Given the description of an element on the screen output the (x, y) to click on. 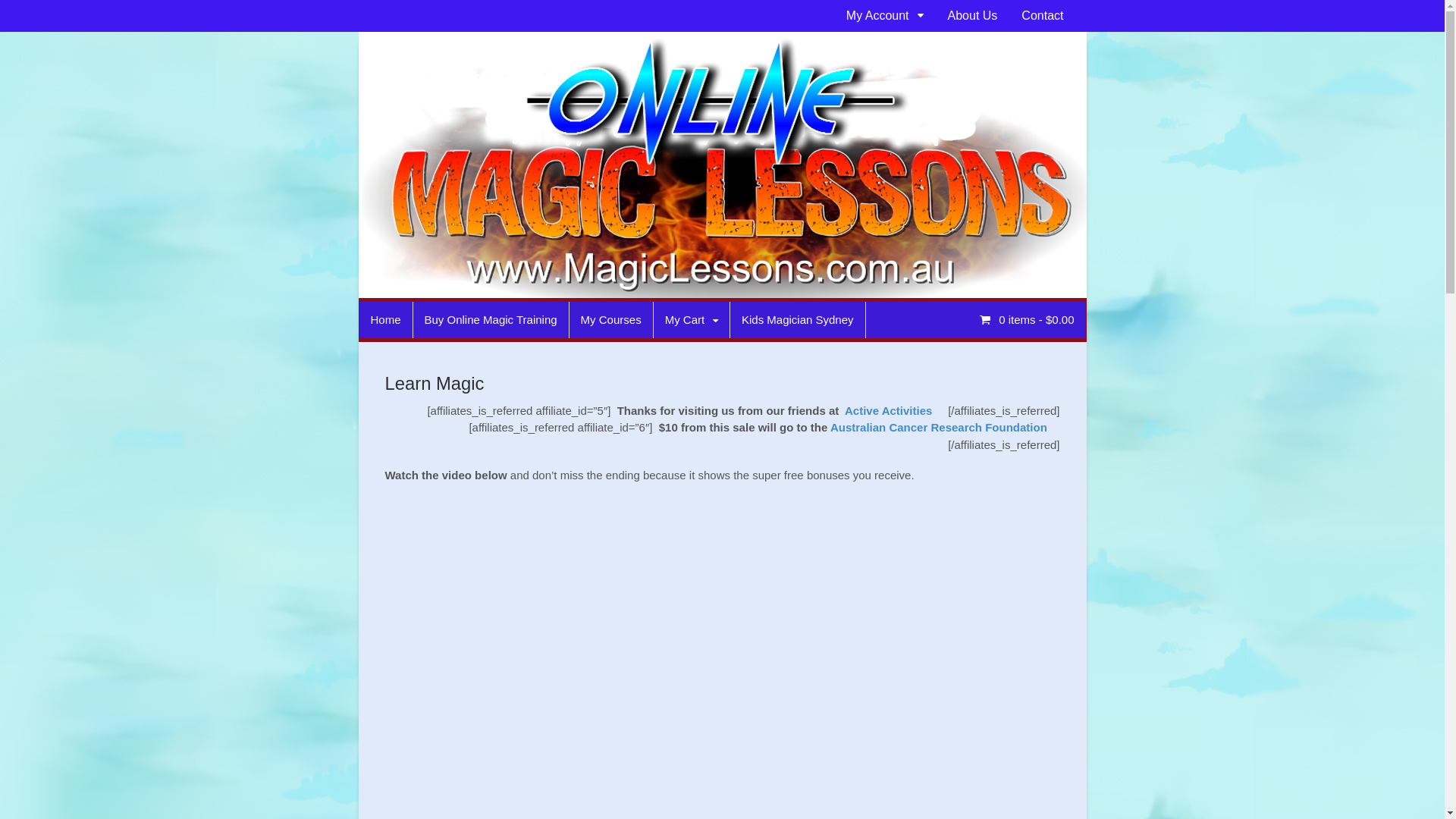
Buy Online Magic Training Element type: text (490, 319)
Kids Magician Sydney Element type: text (797, 319)
My Courses Element type: text (610, 319)
Australian Cancer Research Foundation Element type: text (938, 426)
Home Element type: text (385, 319)
Contact Element type: text (1042, 15)
My Account Element type: text (884, 15)
Active Activities Element type: text (887, 410)
About Us Element type: text (972, 15)
0 items - $0.00 Element type: text (1026, 318)
Payment Website Element type: hover (387, 39)
My Cart Element type: text (691, 319)
